Given the description of an element on the screen output the (x, y) to click on. 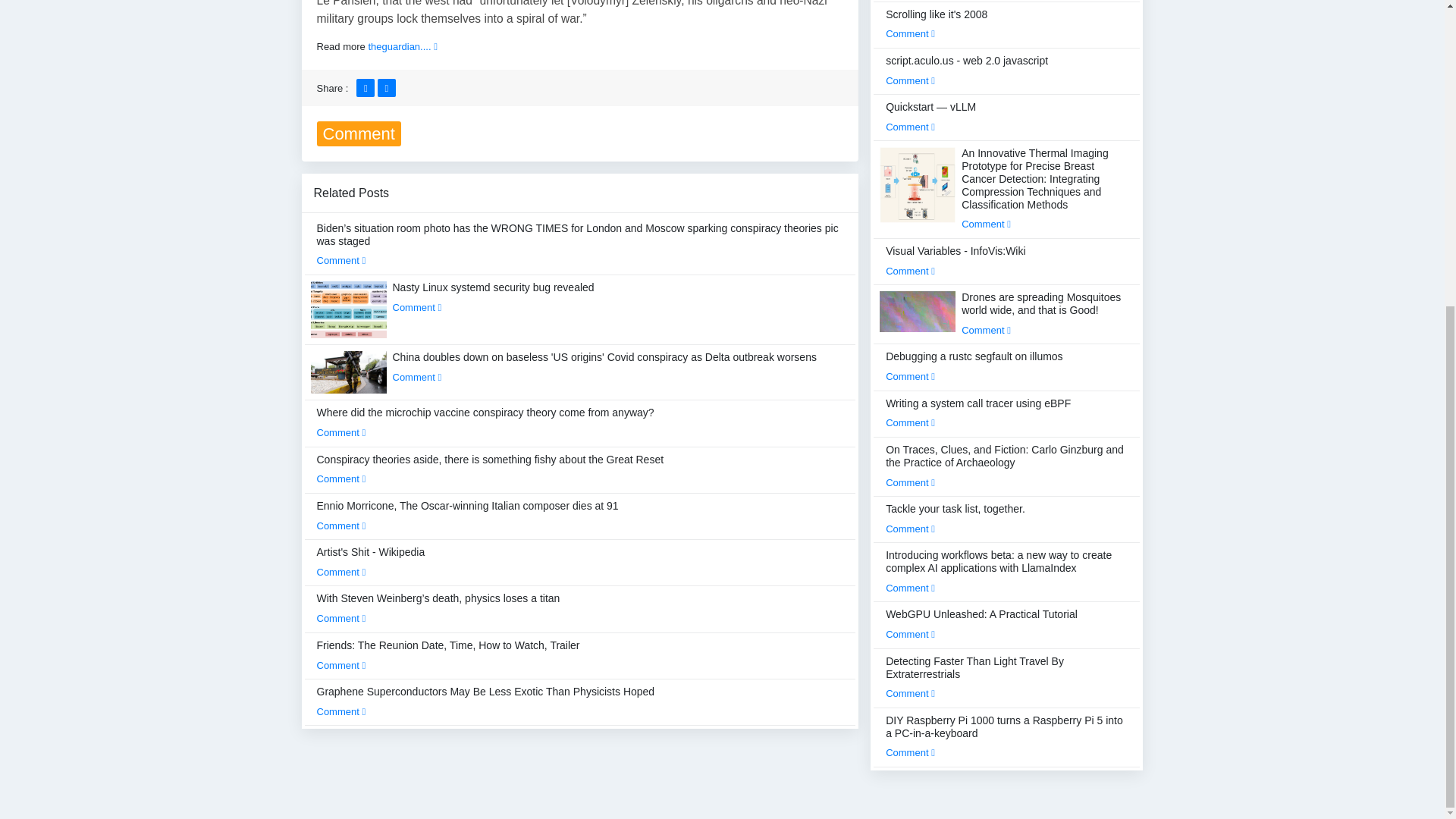
Friends: The Reunion Date, Time, How to Watch, Trailer (448, 654)
Comment (341, 432)
Comment (417, 377)
Nasty Linux systemd security bug revealed (493, 296)
Comment (341, 618)
Comment (341, 260)
Comment (341, 478)
Comment (341, 572)
Comment (417, 307)
Artist's Shit - Wikipedia (371, 562)
theguardian.... (402, 46)
